Given the description of an element on the screen output the (x, y) to click on. 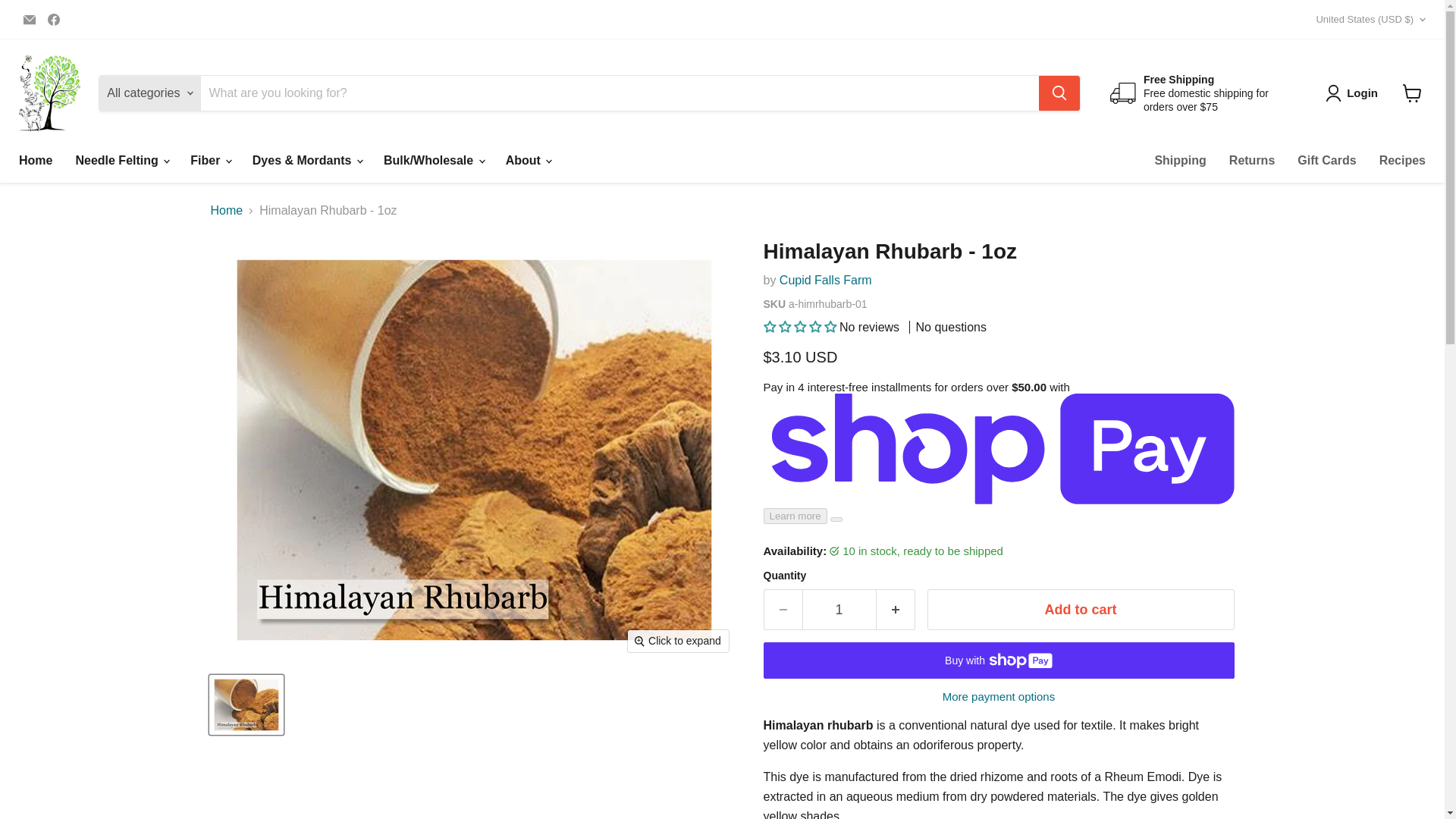
1 (839, 609)
View cart (1411, 92)
Home (35, 160)
Find us on Facebook (53, 19)
Facebook (53, 19)
Email (29, 19)
Cupid Falls Farm (825, 279)
Login (1354, 93)
Email Cupid Falls Farm (29, 19)
